Given the description of an element on the screen output the (x, y) to click on. 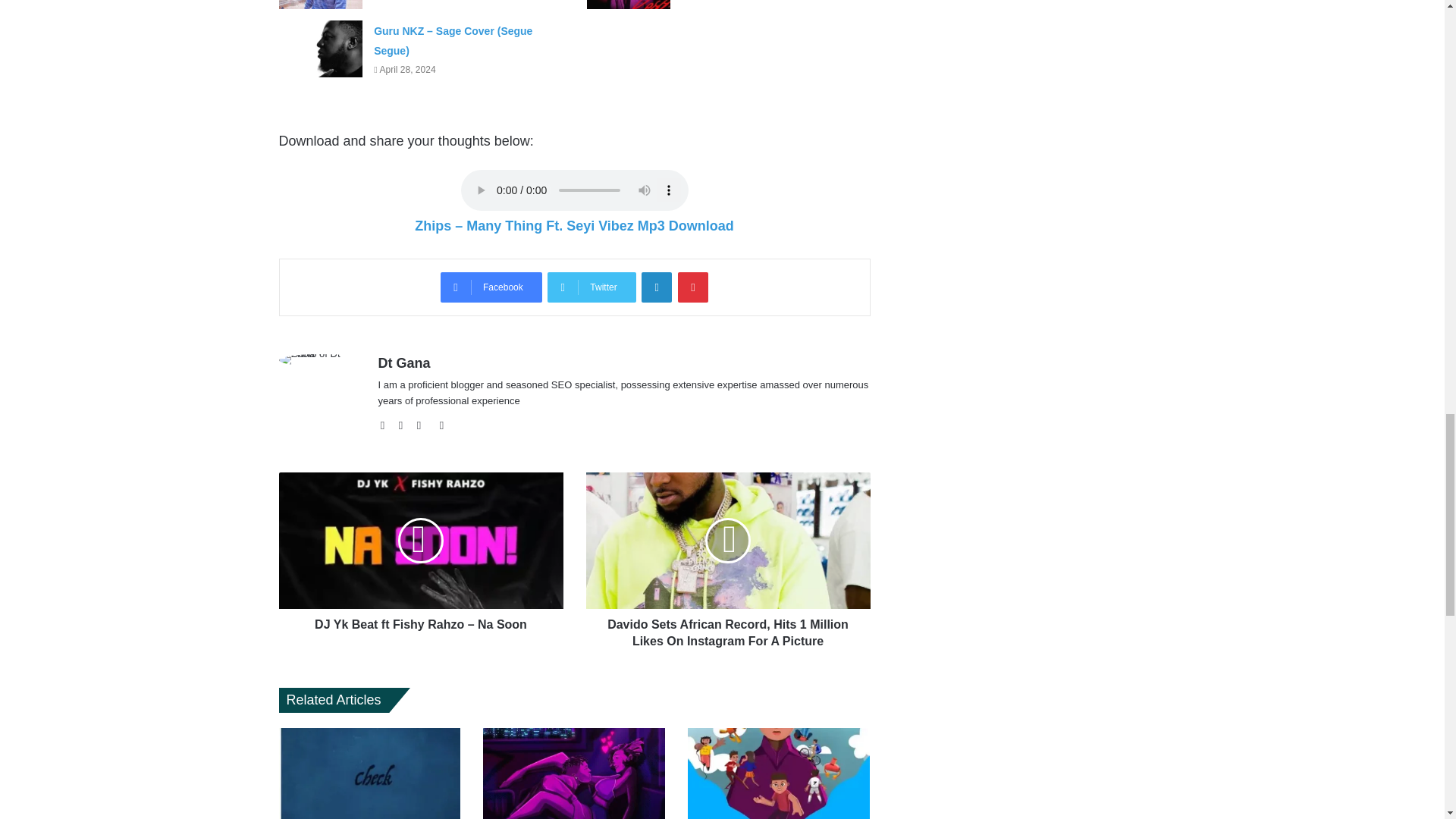
Instagram (440, 425)
LinkedIn (656, 286)
Sheriff Sadiq - Sarah (320, 4)
Facebook (491, 286)
Website (386, 425)
Twitter (590, 286)
Facebook (491, 286)
Dt Gana (403, 363)
YouTube (422, 425)
Pinterest (692, 286)
Facebook (404, 425)
Twitter (590, 286)
LinkedIn (656, 286)
